Given the description of an element on the screen output the (x, y) to click on. 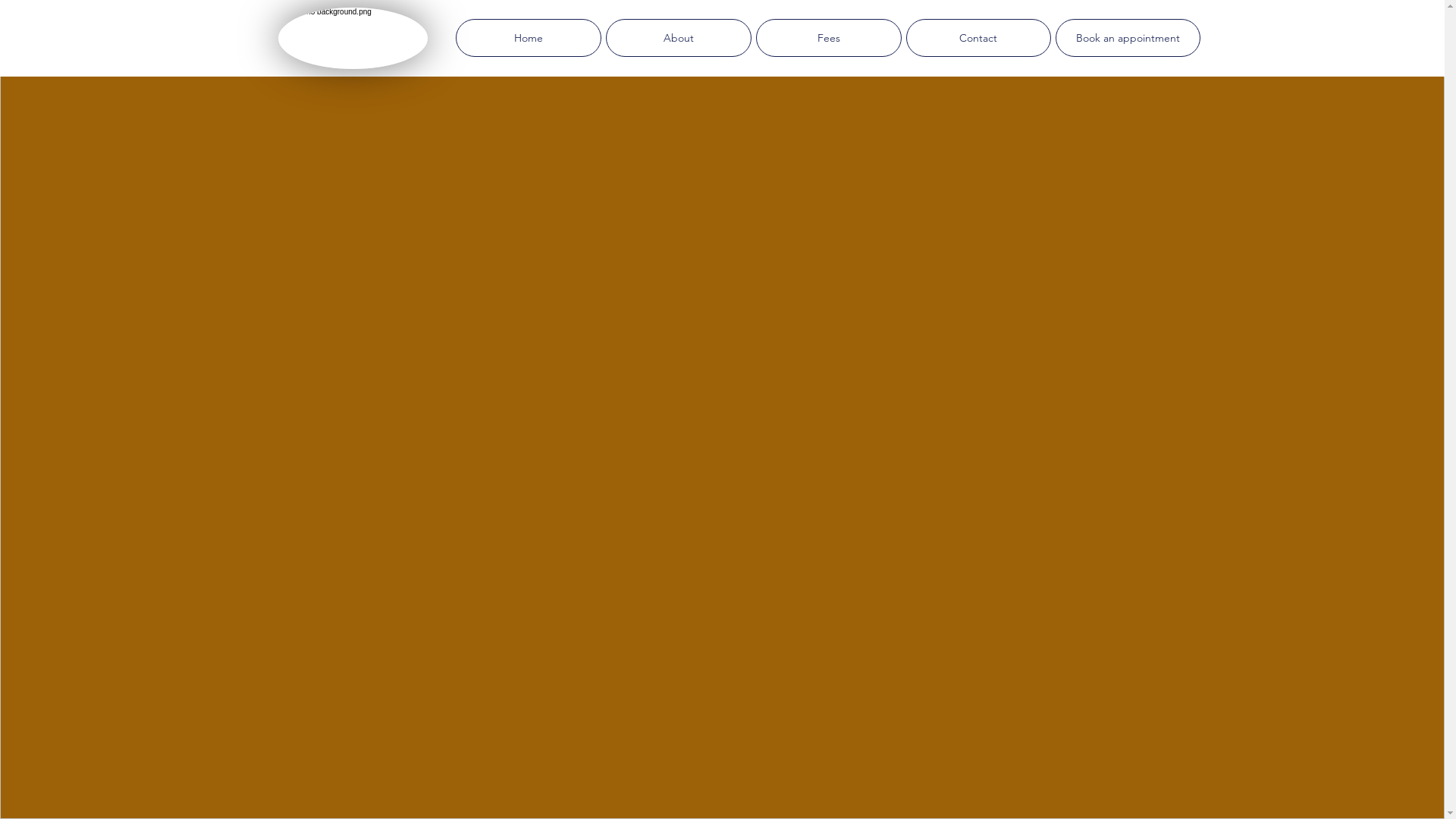
Fees Element type: text (827, 37)
Home Element type: text (527, 37)
Book an appointment Element type: text (1127, 37)
About Element type: text (677, 37)
Contact Element type: text (977, 37)
